Given the description of an element on the screen output the (x, y) to click on. 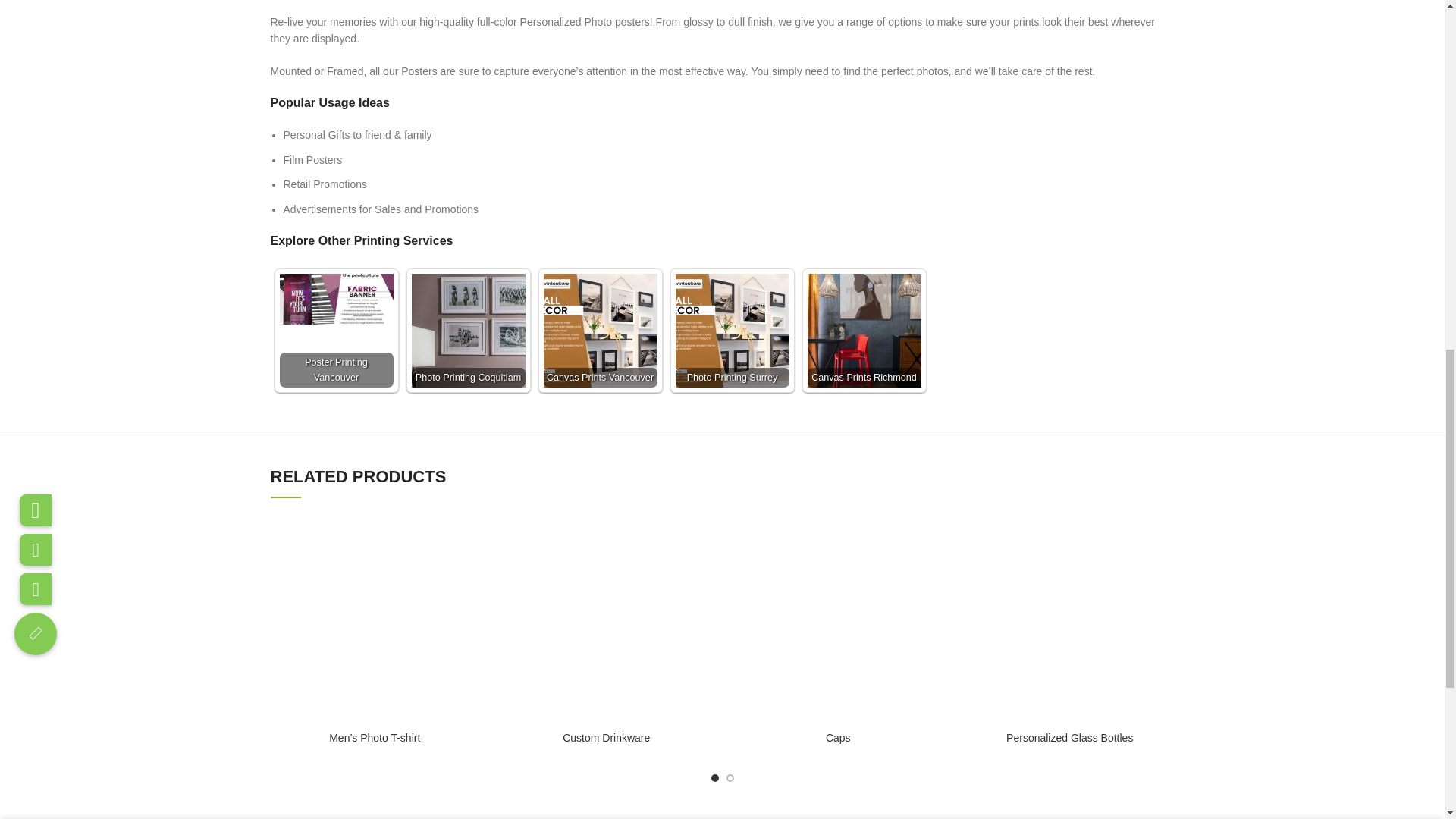
Photo Printing Surrey (732, 330)
Poster Printing Vancouver (336, 298)
Canvas Prints Vancouver (599, 330)
Photo Printing Coquitlam (467, 330)
Canvas Prints Richmond (863, 330)
